Given the description of an element on the screen output the (x, y) to click on. 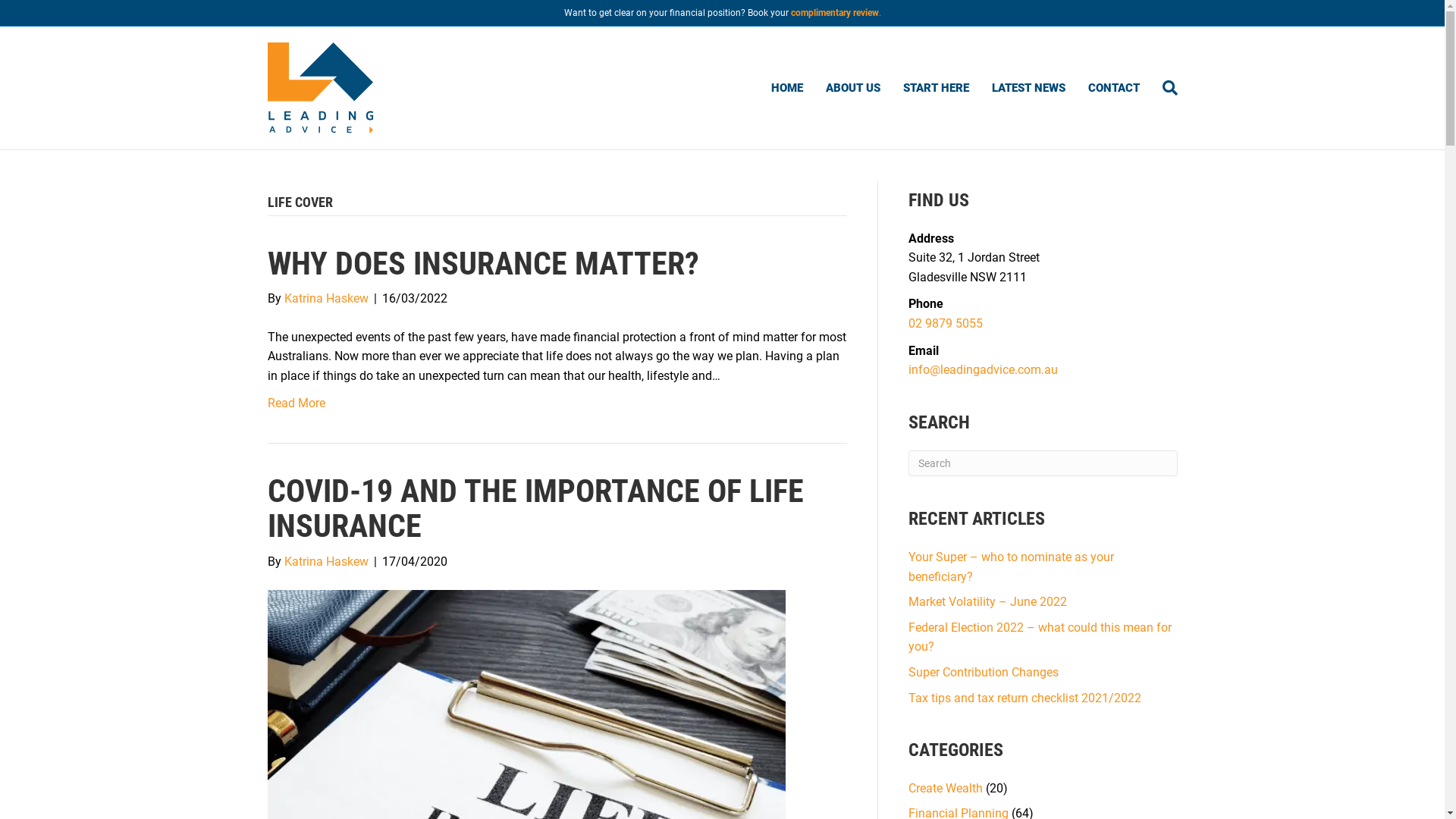
02 9879 5055 Element type: text (945, 323)
ABOUT US Element type: text (852, 87)
CONTACT Element type: text (1113, 87)
Super Contribution Changes Element type: text (983, 672)
START HERE Element type: text (935, 87)
Create Wealth Element type: text (945, 788)
LATEST NEWS Element type: text (1027, 87)
WHY DOES INSURANCE MATTER? Element type: text (482, 263)
Katrina Haskew Element type: text (325, 298)
HOME Element type: text (786, 87)
Read More Element type: text (295, 402)
info@leadingadvice.com.au Element type: text (982, 369)
Type and press Enter to search. Element type: hover (1042, 463)
complimentary review Element type: text (834, 12)
Tax tips and tax return checklist 2021/2022 Element type: text (1024, 697)
COVID-19 AND THE IMPORTANCE OF LIFE INSURANCE Element type: text (534, 508)
Katrina Haskew Element type: text (325, 561)
. Element type: text (879, 12)
